Given the description of an element on the screen output the (x, y) to click on. 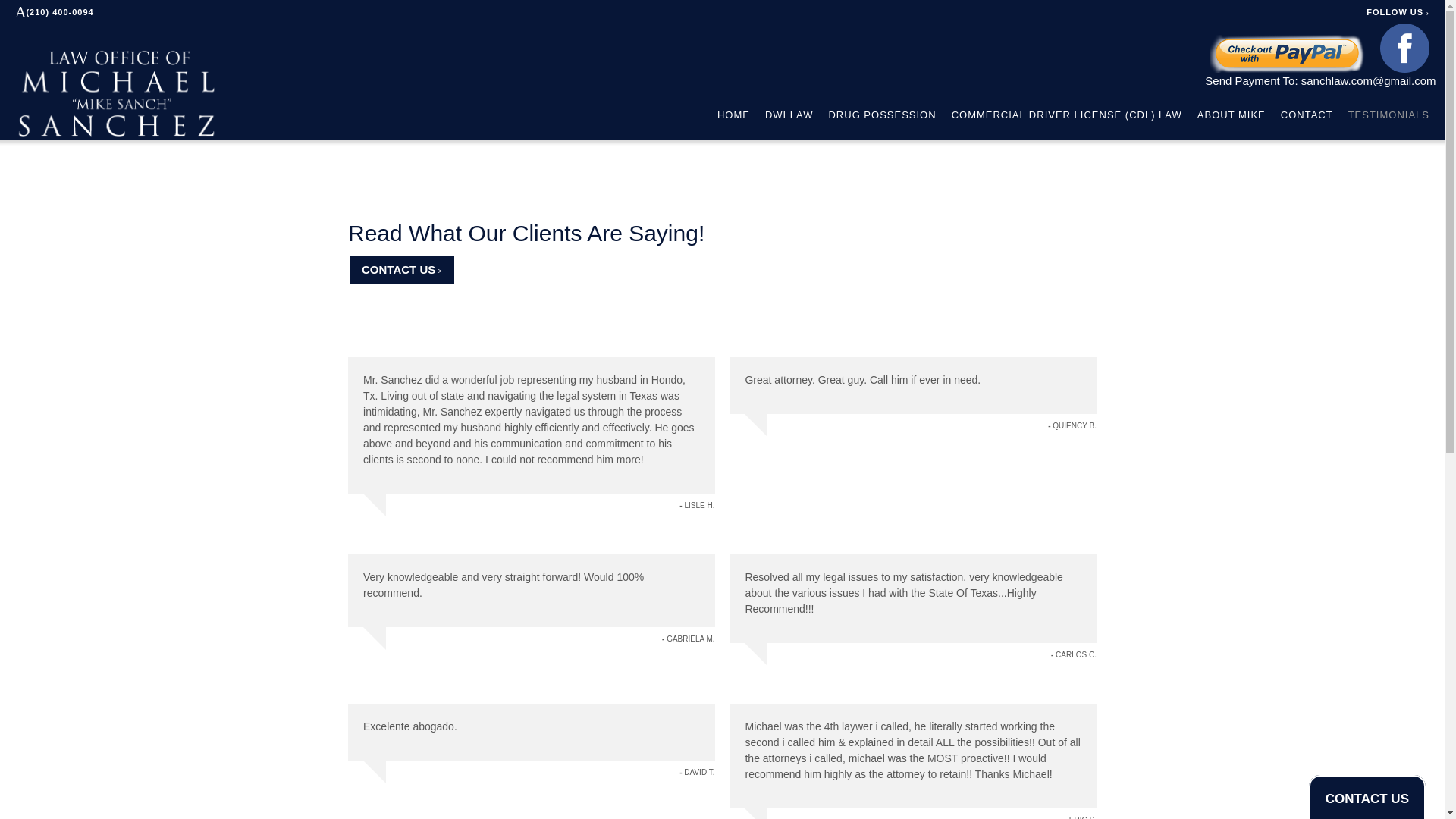
DRUG POSSESSION (882, 115)
ABOUT MIKE (1230, 115)
CONTACT US (401, 269)
Read What Our Clients Are Saying! (525, 232)
DWI LAW (789, 115)
TESTIMONIALS (1388, 115)
HOME (733, 115)
CONTACT (1307, 115)
